Given the description of an element on the screen output the (x, y) to click on. 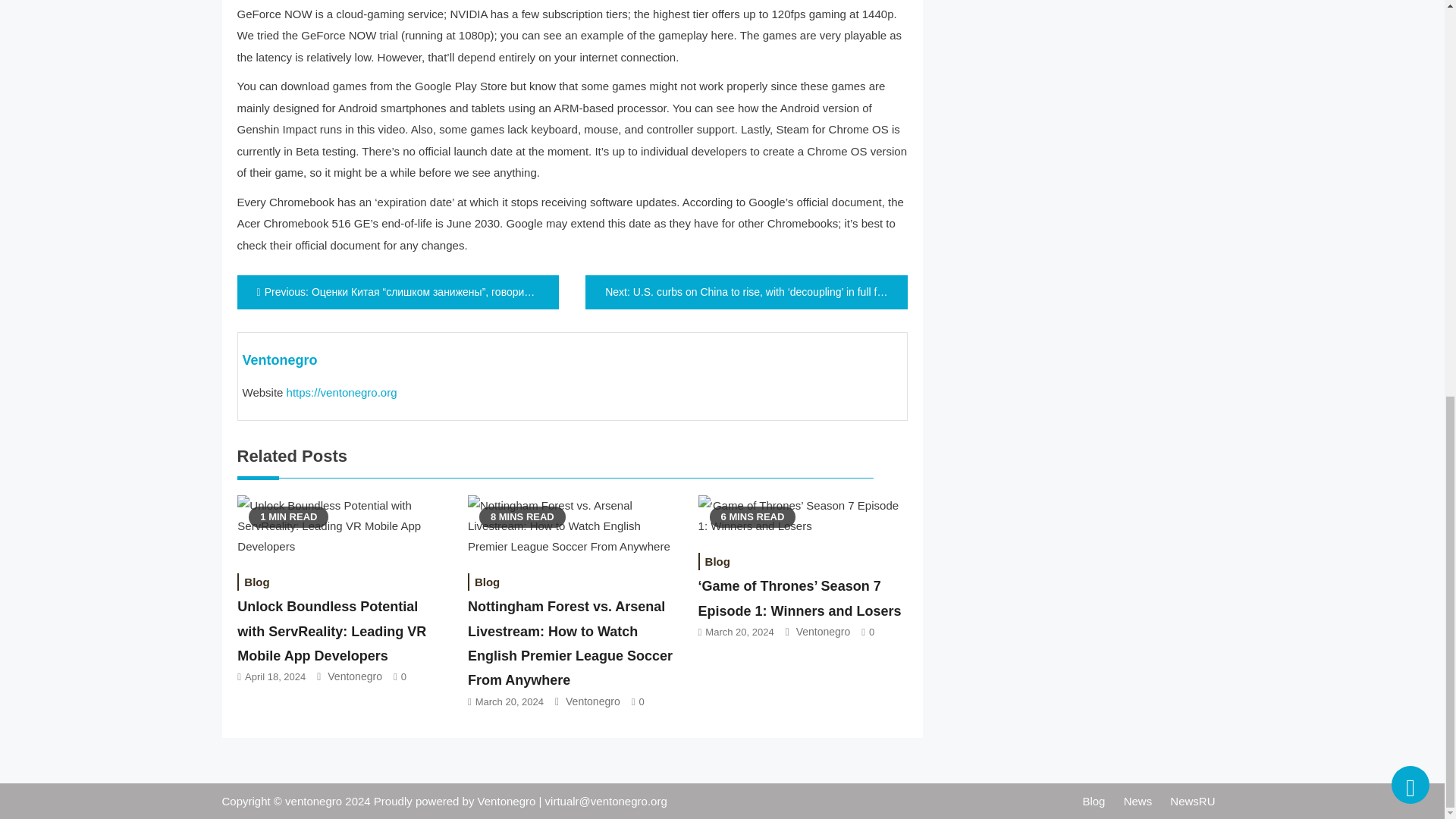
March 20, 2024 (738, 632)
Blog (486, 581)
Posts by Ventonegro (280, 359)
Ventonegro (354, 676)
Blog (256, 581)
March 20, 2024 (509, 701)
Ventonegro (823, 631)
Ventonegro (593, 701)
April 18, 2024 (274, 676)
